Given the description of an element on the screen output the (x, y) to click on. 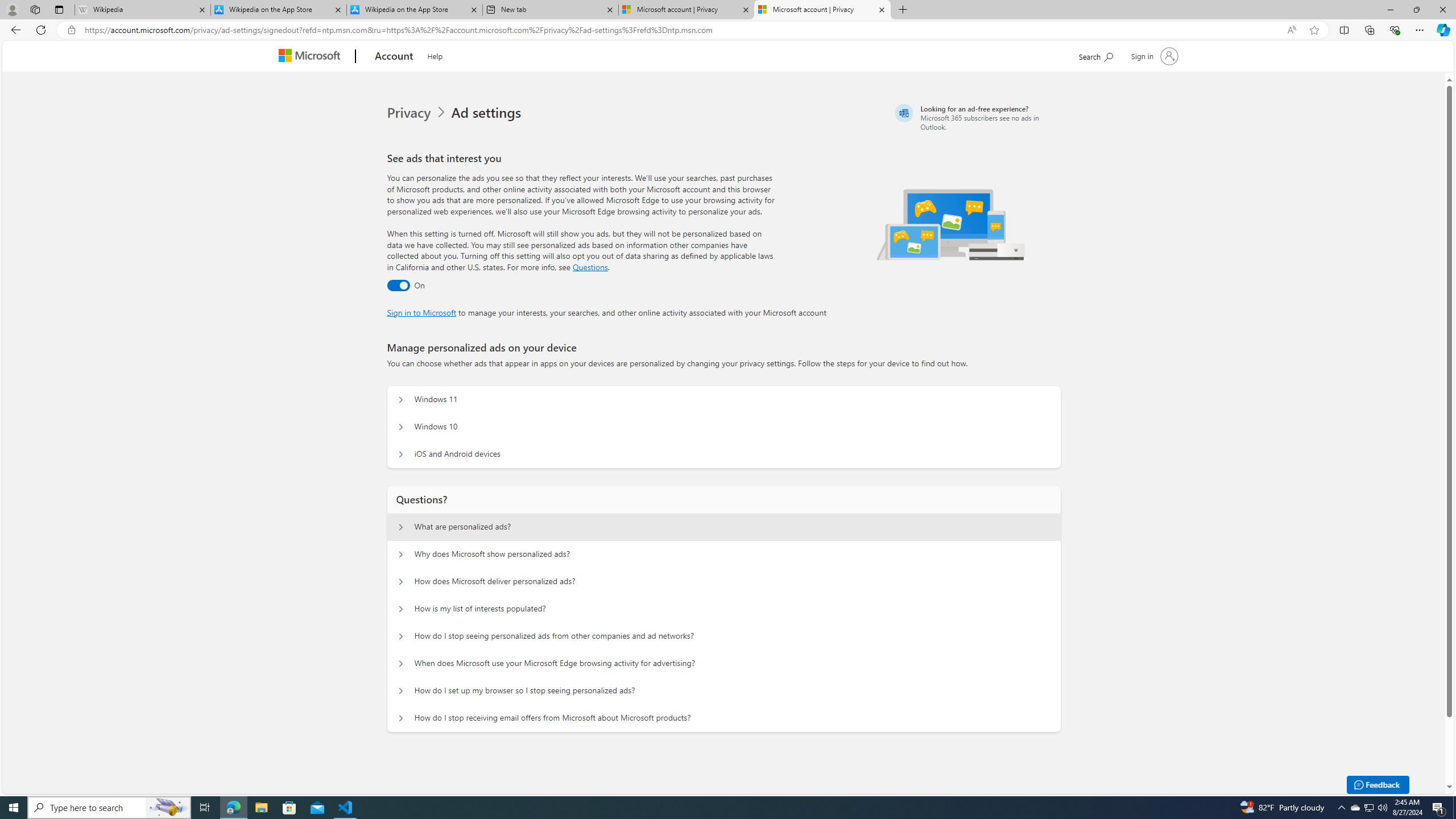
Questions? How does Microsoft deliver personalized ads? (401, 581)
Looking for an ad-free experience? (976, 117)
Account (394, 56)
